Given the description of an element on the screen output the (x, y) to click on. 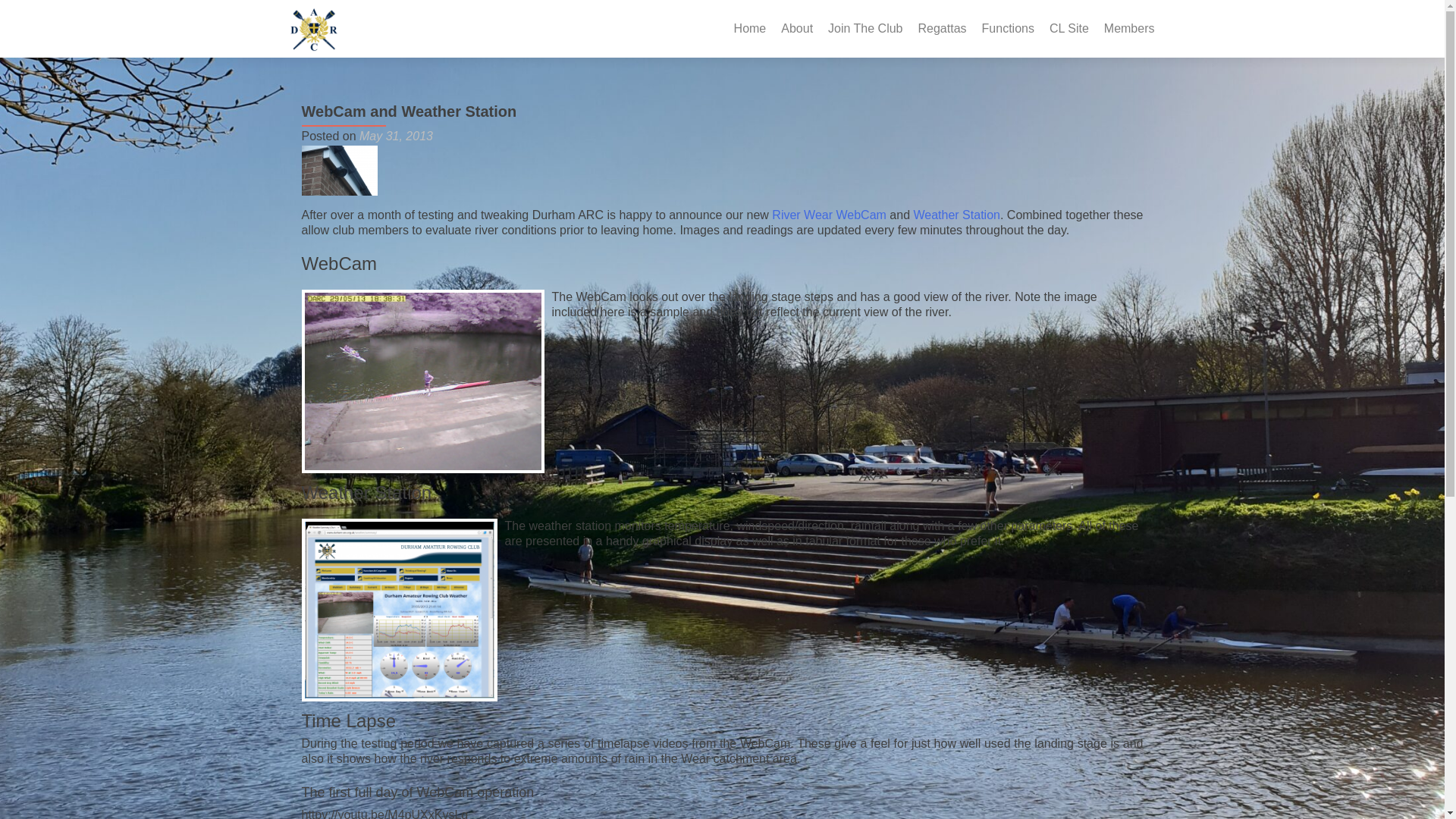
Weather Station (955, 214)
river (339, 170)
Members (1128, 28)
Regattas (942, 28)
May 31, 2013 (395, 135)
CL Site (1069, 28)
River Wear WebCam (828, 214)
River Wear WebCam (828, 214)
Join The Club (865, 28)
Home (750, 28)
Functions (1007, 28)
About (796, 28)
Weather Summary (955, 214)
